Given the description of an element on the screen output the (x, y) to click on. 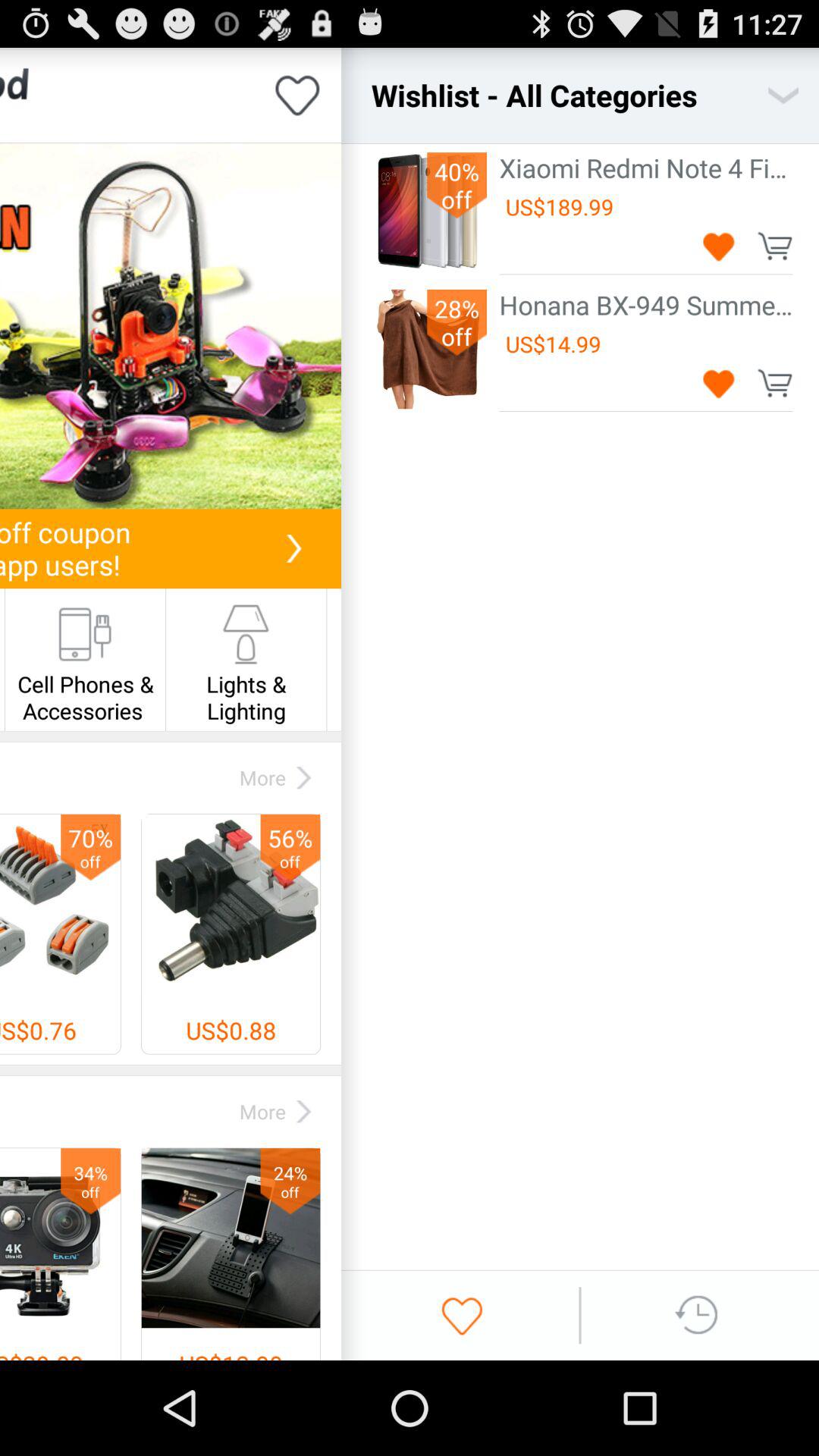
open wishlist (783, 95)
